Given the description of an element on the screen output the (x, y) to click on. 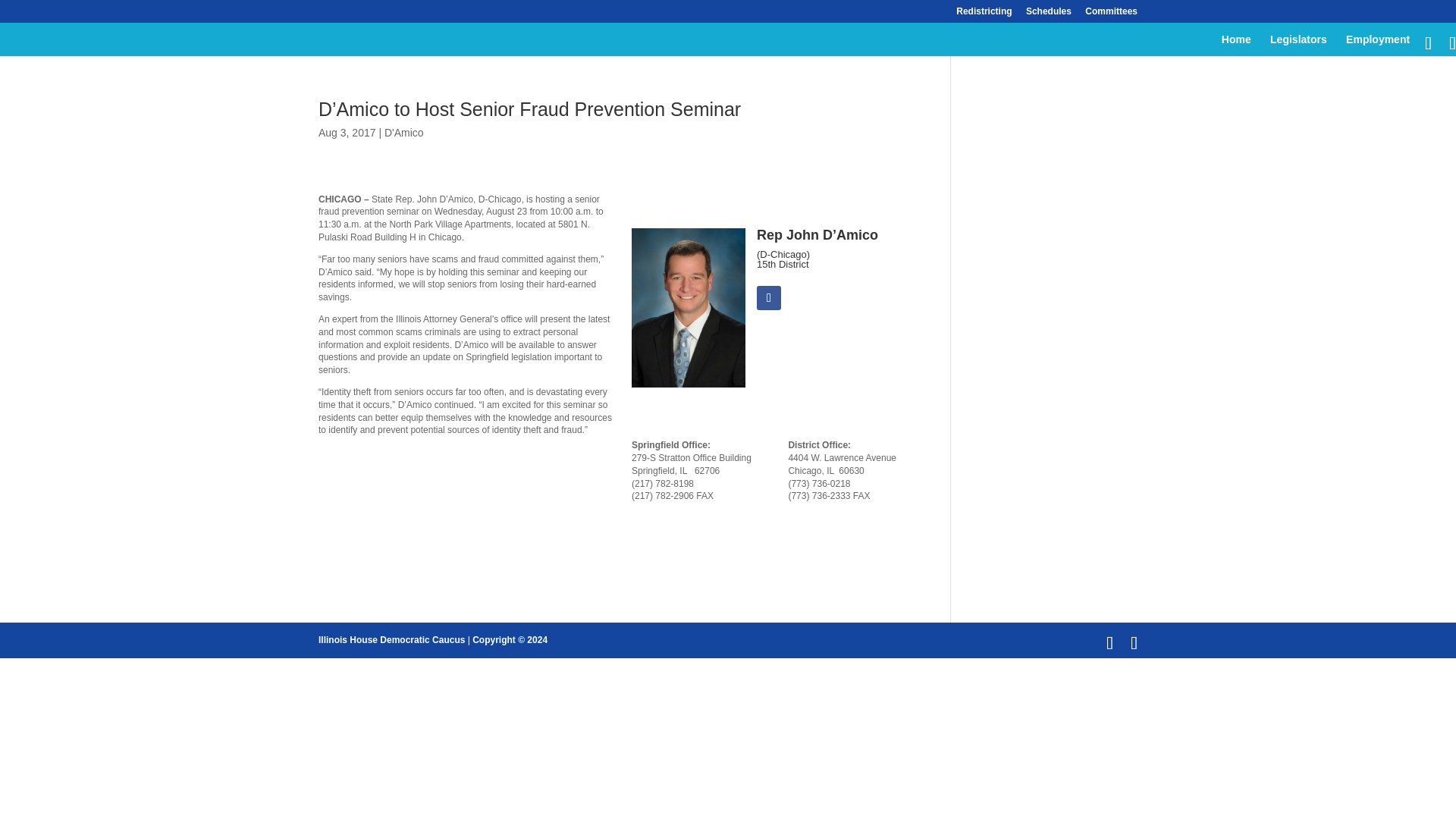
Schedules (1048, 14)
IL House Democrats (391, 639)
Home (1235, 45)
Follow on Facebook (768, 297)
D'Amico (403, 132)
Illinois House Democratic Caucus (391, 639)
Legislators (1297, 45)
Redistricting (983, 14)
Committees (1110, 14)
Employment (1377, 45)
